Given the description of an element on the screen output the (x, y) to click on. 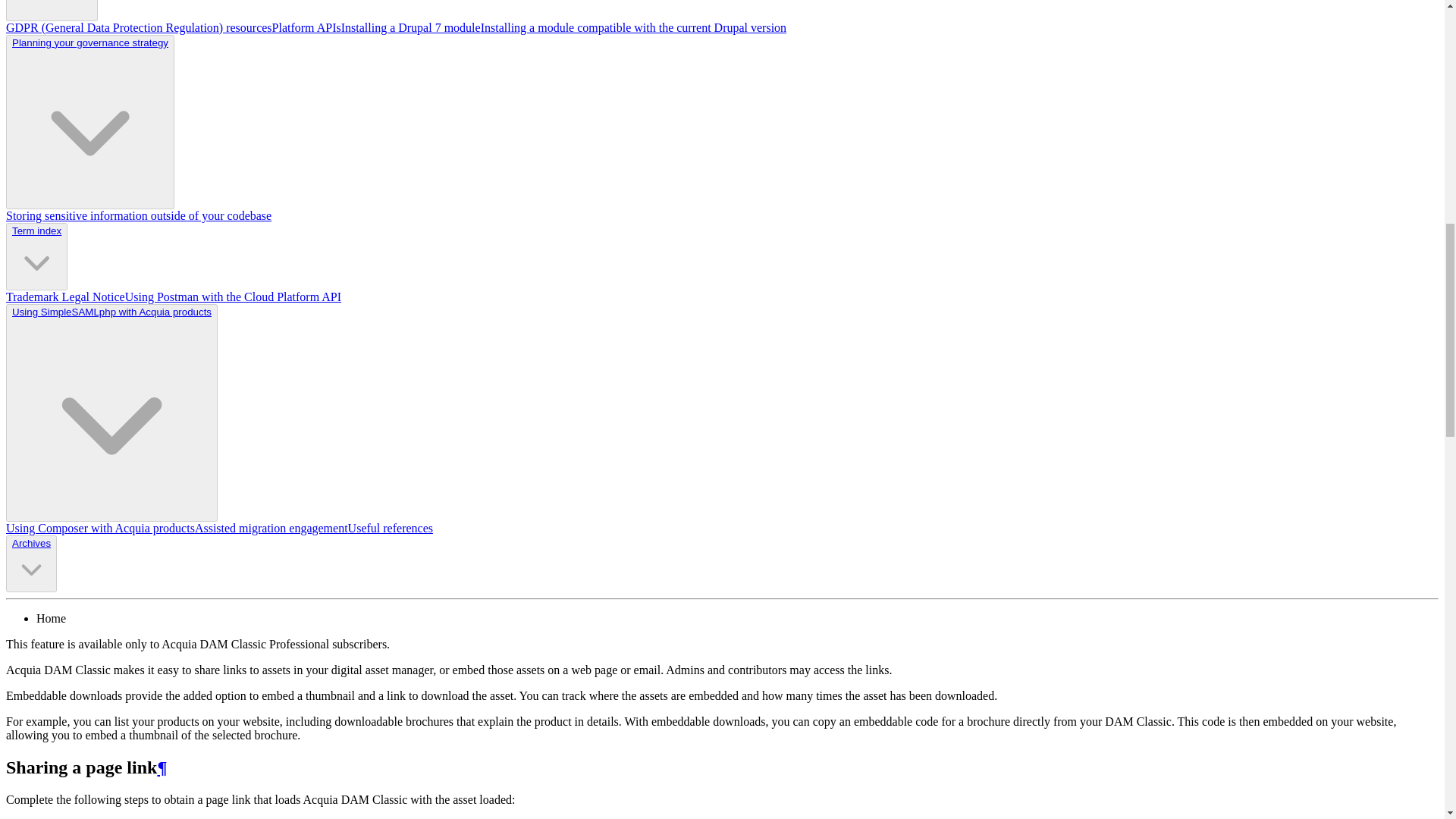
Caching overview (51, 10)
Term index (36, 230)
Planning your governance strategy (89, 42)
Using Composer with Acquia products (100, 527)
Term index (35, 256)
Using SimpleSAMLphp with Acquia products (111, 311)
Installing a Drupal 7 module (410, 27)
Planning your governance strategy (89, 122)
Using SimpleSAMLphp with Acquia products (110, 412)
Assisted migration engagement (271, 527)
